Given the description of an element on the screen output the (x, y) to click on. 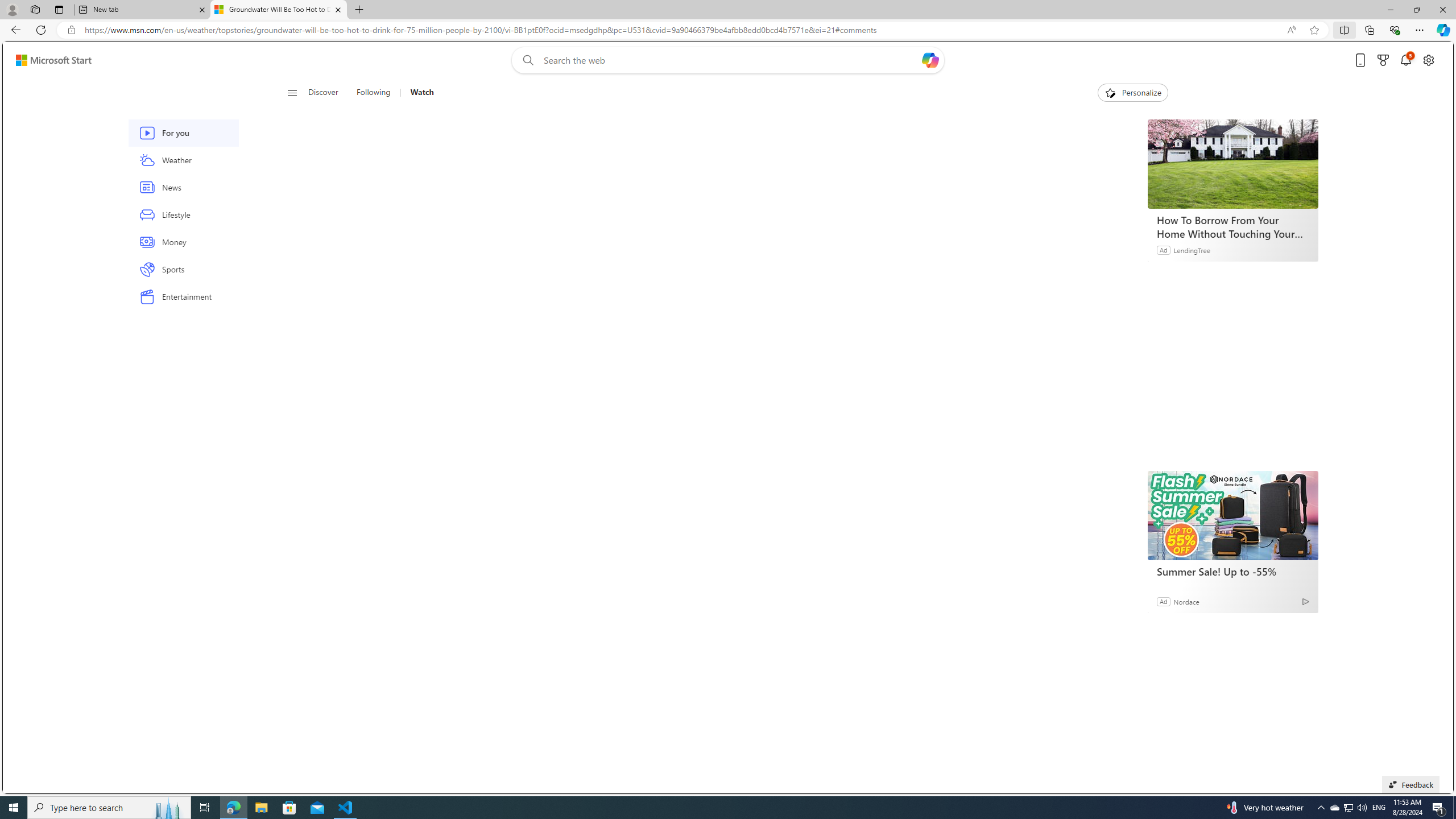
Summer Sale! Up to -55% (1232, 515)
Summer Sale! Up to -55% (1232, 571)
